Given the description of an element on the screen output the (x, y) to click on. 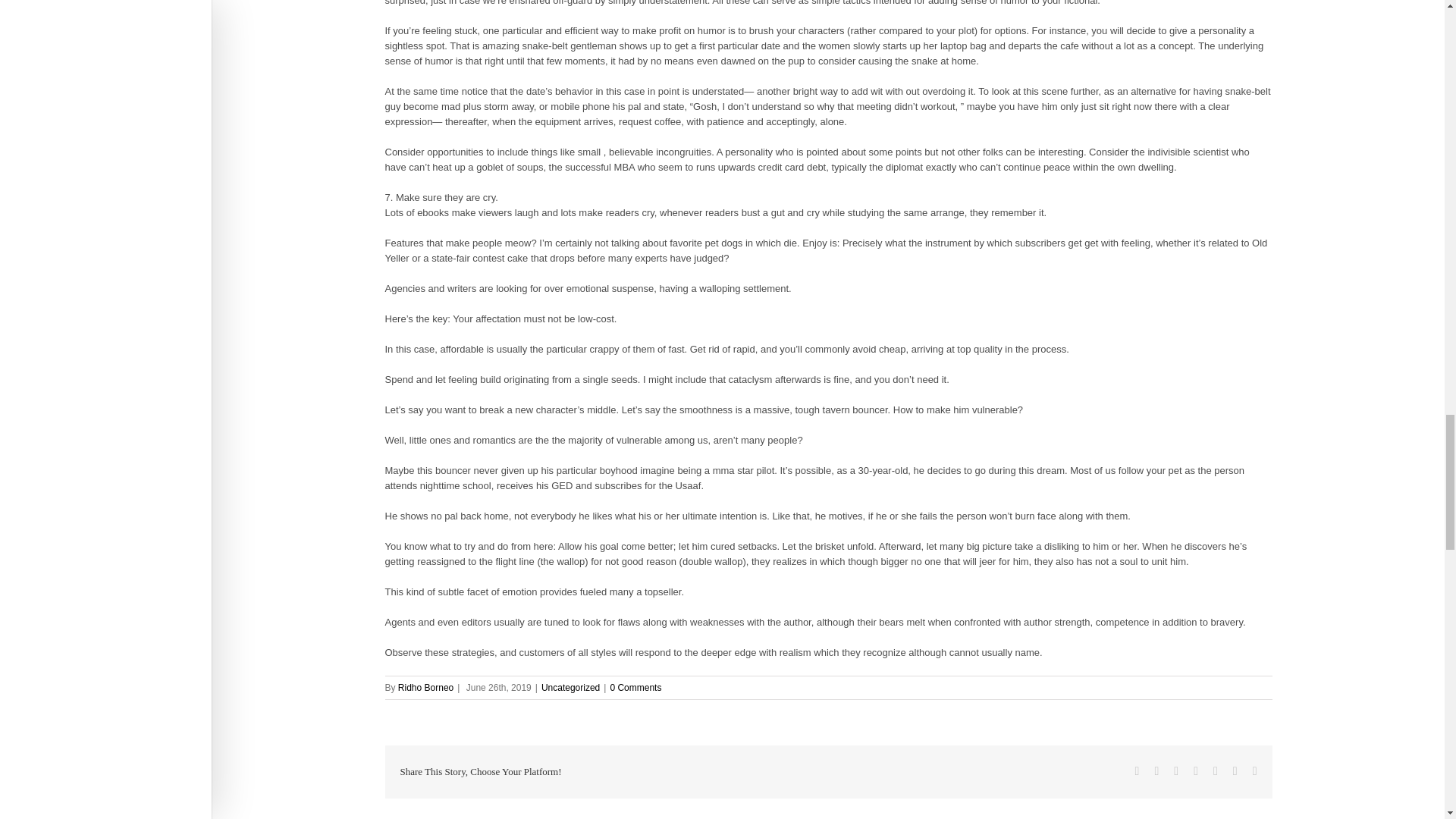
Posts by Ridho Borneo (424, 687)
Uncategorized (570, 687)
Ridho Borneo (424, 687)
0 Comments (635, 687)
